Given the description of an element on the screen output the (x, y) to click on. 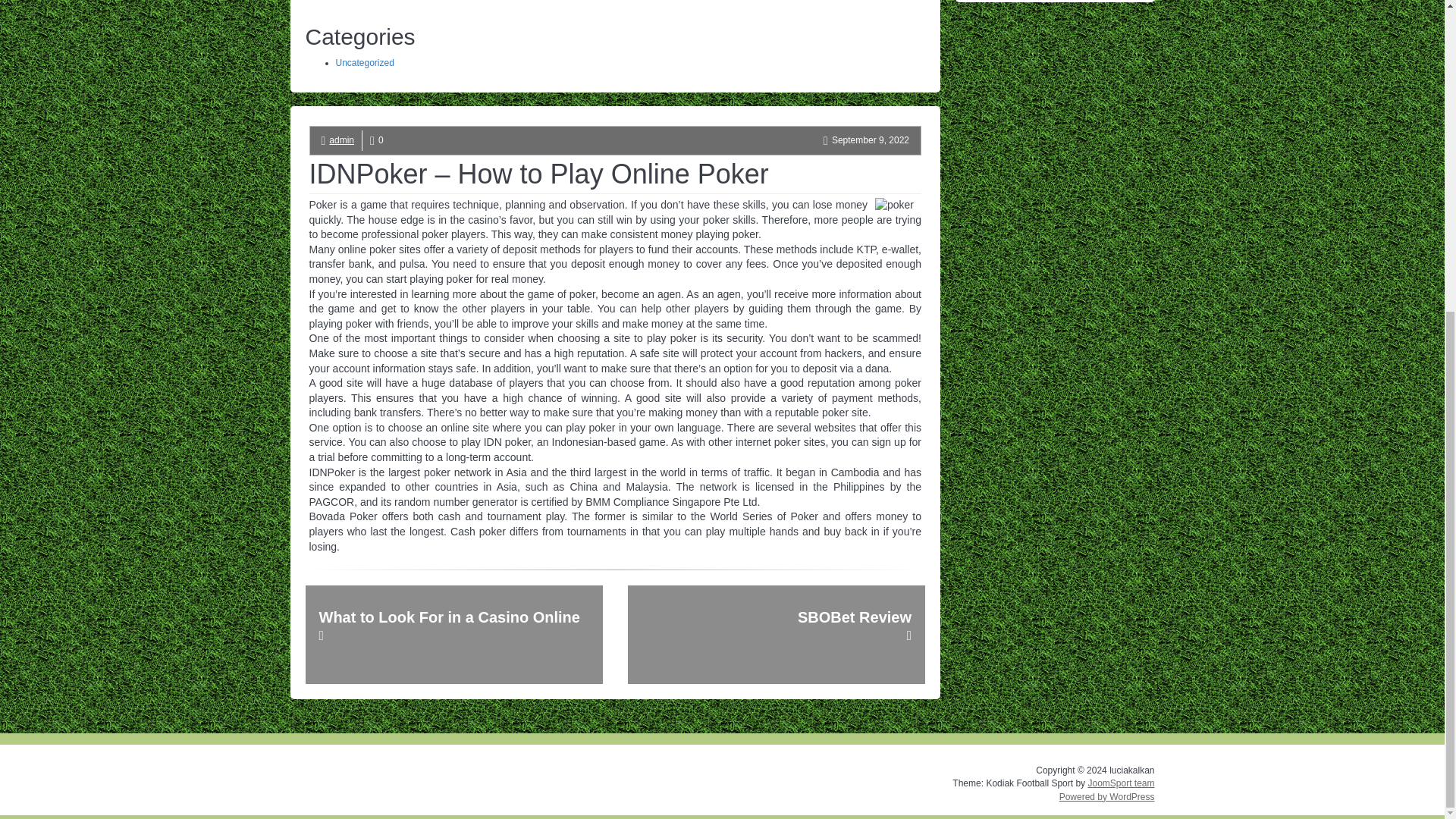
admin (341, 140)
SBOBet Review (775, 634)
 The Best WordPress Sport Plugin for your league and club  (1120, 783)
Uncategorized (363, 62)
What to Look For in a Casino Online (453, 634)
